Given the description of an element on the screen output the (x, y) to click on. 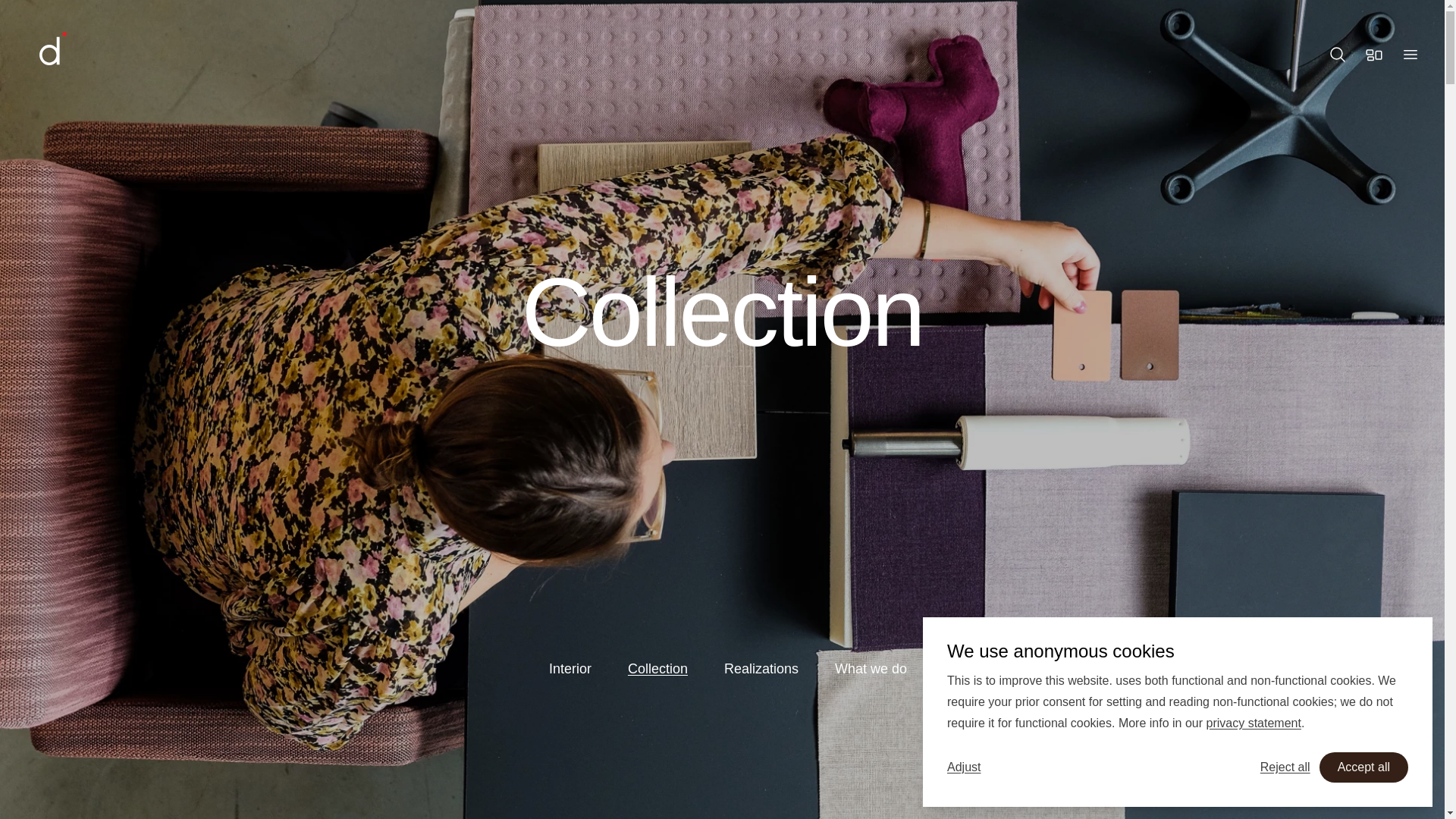
Interior (569, 668)
What we do (870, 668)
Home (96, 54)
Realizations (760, 668)
What we do (870, 668)
Interior (569, 668)
Collection (657, 668)
Collection (657, 668)
Realizations (760, 668)
Search (1336, 54)
